Given the description of an element on the screen output the (x, y) to click on. 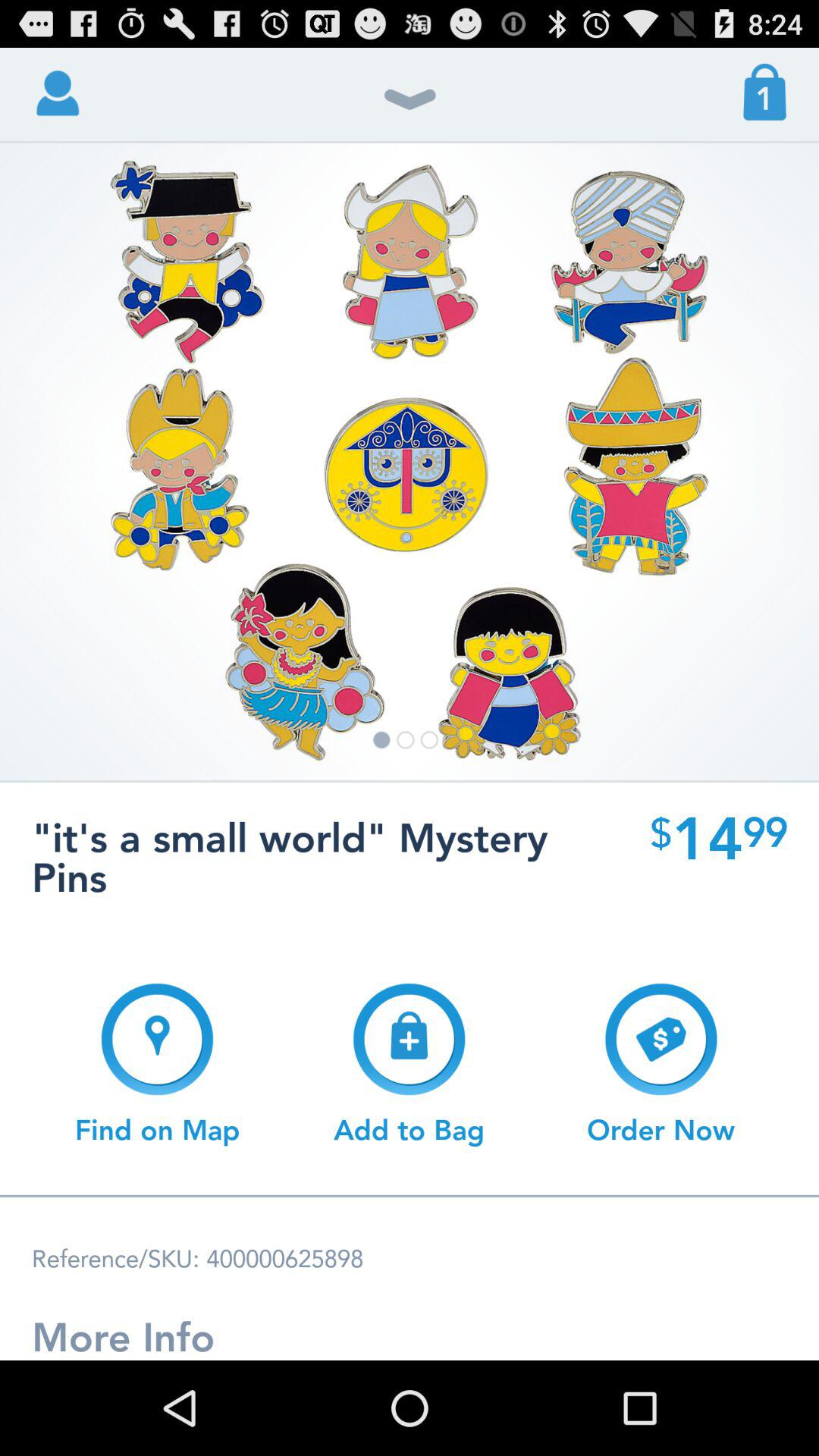
flip until the order now icon (661, 1064)
